Given the description of an element on the screen output the (x, y) to click on. 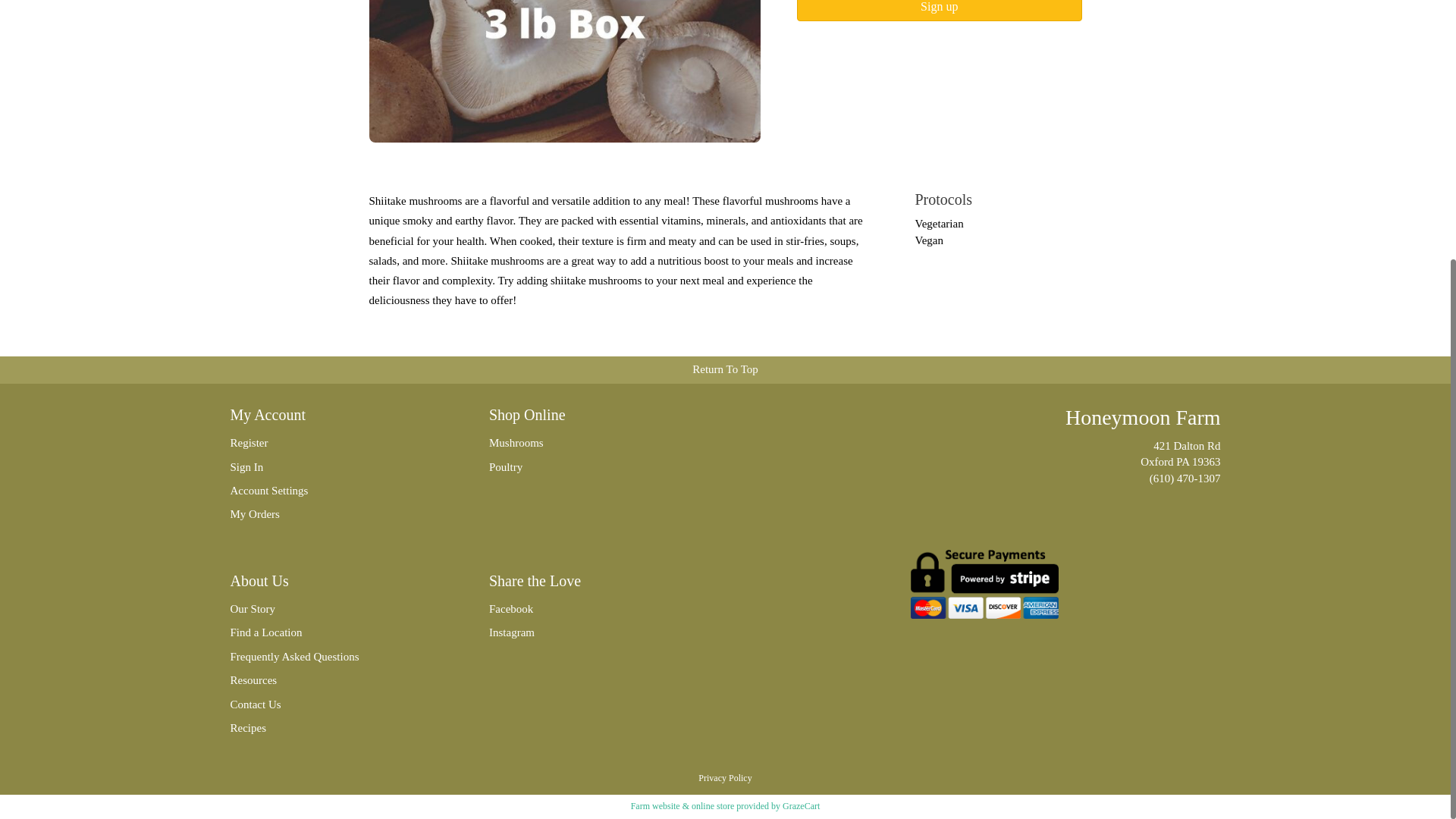
Sign up (938, 10)
Frequently Asked Questions (337, 657)
Vegetarian (938, 223)
My Orders (337, 514)
Resources (337, 680)
Poultry (596, 467)
Privacy Policy (724, 777)
Find a Location (337, 632)
Facebook (596, 608)
Mushrooms (596, 443)
Our Story (337, 608)
Vegan (928, 240)
Register (337, 443)
Account Settings (337, 490)
Instagram (596, 632)
